Given the description of an element on the screen output the (x, y) to click on. 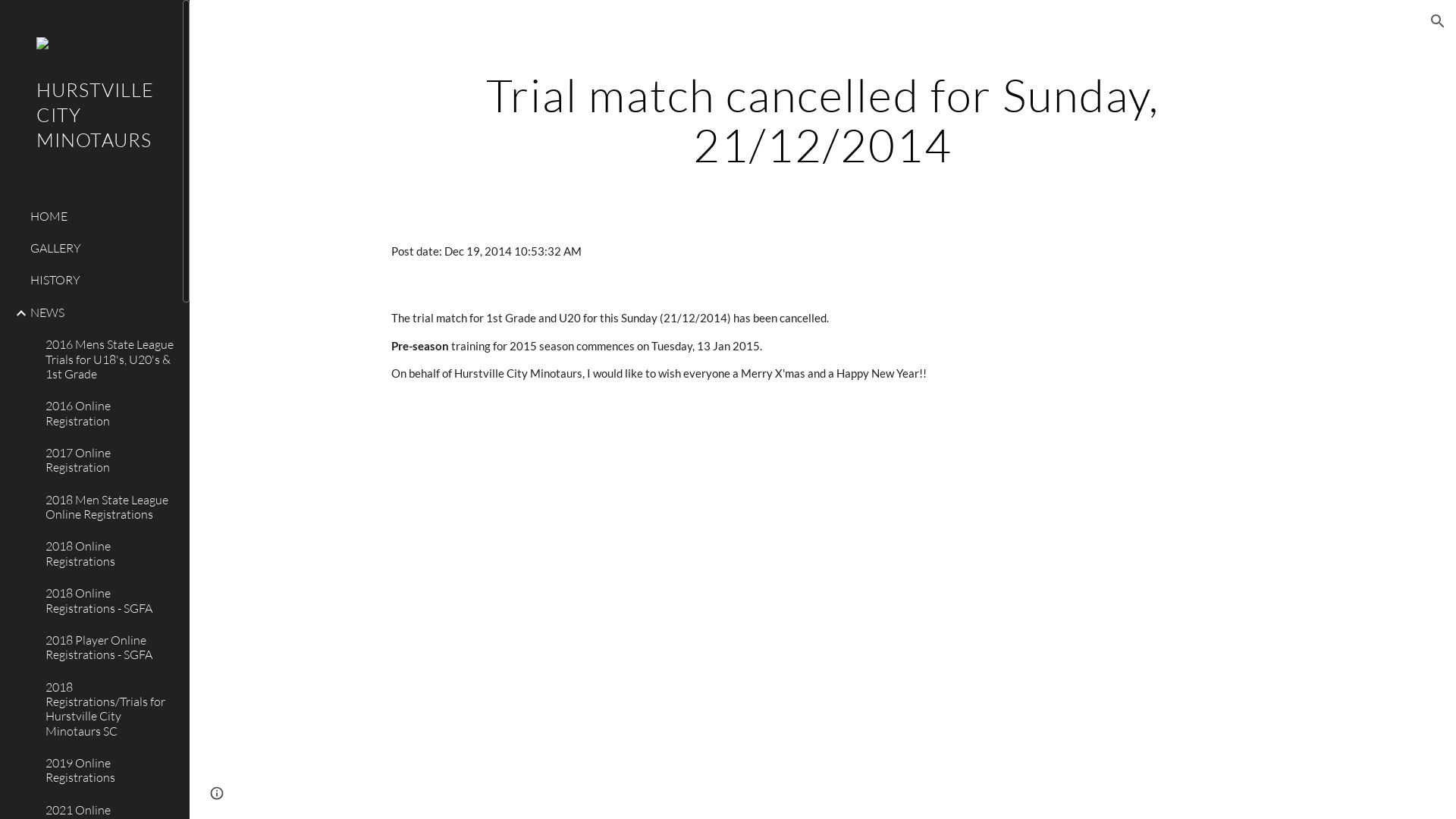
Expand/Collapse Element type: hover (16, 313)
2016 Mens State League Trials for U18's, U20's & 1st Grade Element type: text (107, 359)
2018 Online Registrations Element type: text (107, 553)
HISTORY Element type: text (100, 280)
2019 Online Registrations Element type: text (107, 770)
2016 Online Registration Element type: text (107, 413)
HURSTVILLE CITY MINOTAURS Element type: text (91, 134)
GALLERY Element type: text (100, 248)
2018 Online Registrations - SGFA Element type: text (107, 600)
2018 Men State League Online Registrations Element type: text (107, 506)
2018 Player Online Registrations - SGFA Element type: text (107, 647)
NEWS Element type: text (100, 312)
HOME Element type: text (100, 216)
2018 Registrations/Trials for Hurstville City Minotaurs SC Element type: text (107, 708)
2017 Online Registration Element type: text (107, 459)
